Given the description of an element on the screen output the (x, y) to click on. 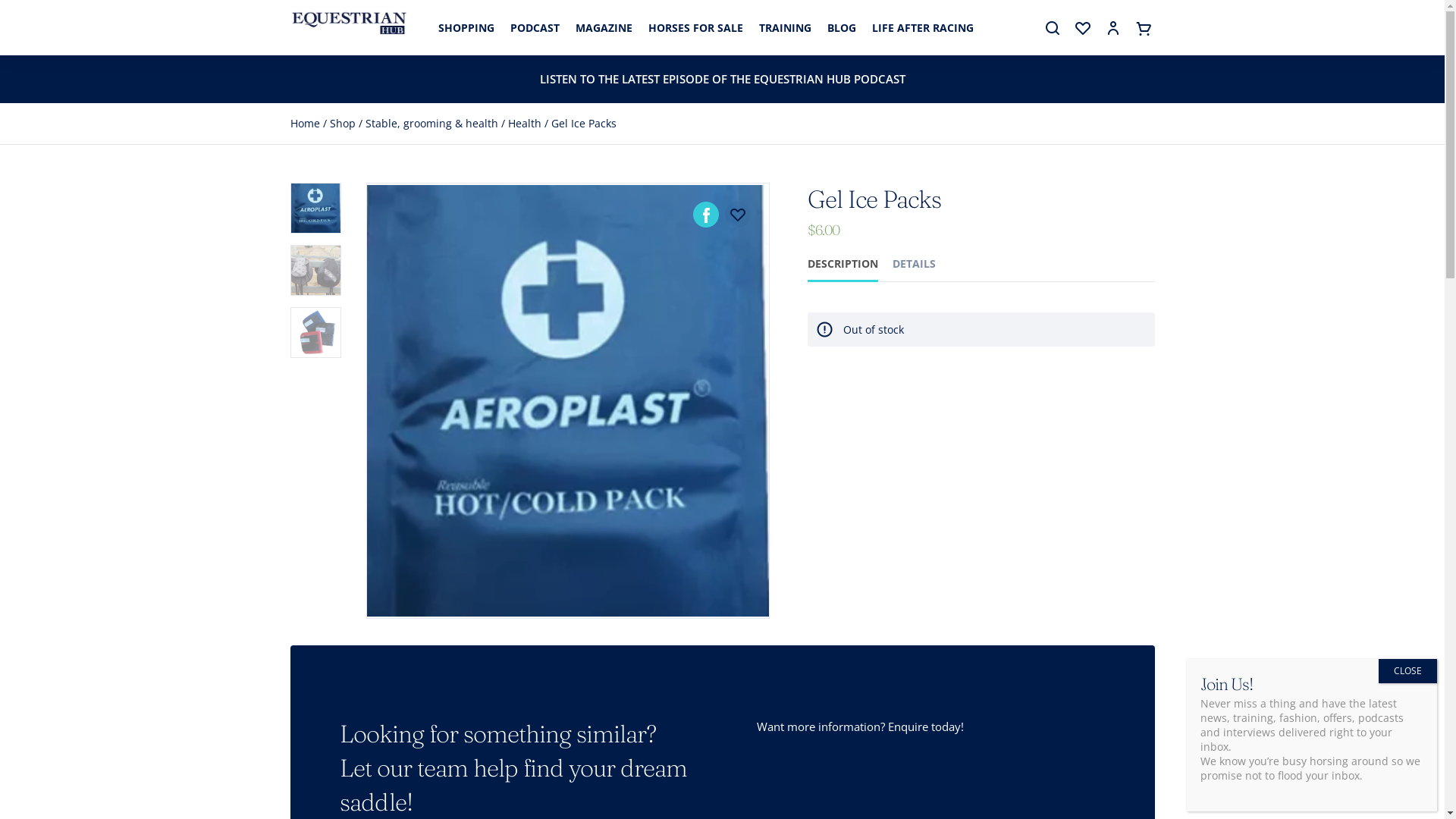
Home Element type: text (304, 123)
MAGAZINE Element type: text (602, 28)
My Account Element type: text (1113, 28)
TRAINING Element type: text (784, 28)
BLOG Element type: text (840, 28)
HORSES FOR SALE Element type: text (694, 28)
Health Element type: text (524, 123)
Screen Shot 2020-09-25 at 2.43.44 pm Element type: hover (969, 287)
DESCRIPTION Element type: text (842, 263)
Cart Element type: text (1143, 28)
Shop Element type: text (341, 123)
LIFE AFTER RACING Element type: text (922, 28)
PODCAST Element type: text (533, 28)
Wishlist Element type: text (1082, 28)
DETAILS Element type: text (913, 263)
Gel pack Element type: hover (568, 400)
SHOPPING Element type: text (466, 28)
CLOSE Element type: text (1407, 670)
Stable, grooming & health Element type: text (431, 123)
